Given the description of an element on the screen output the (x, y) to click on. 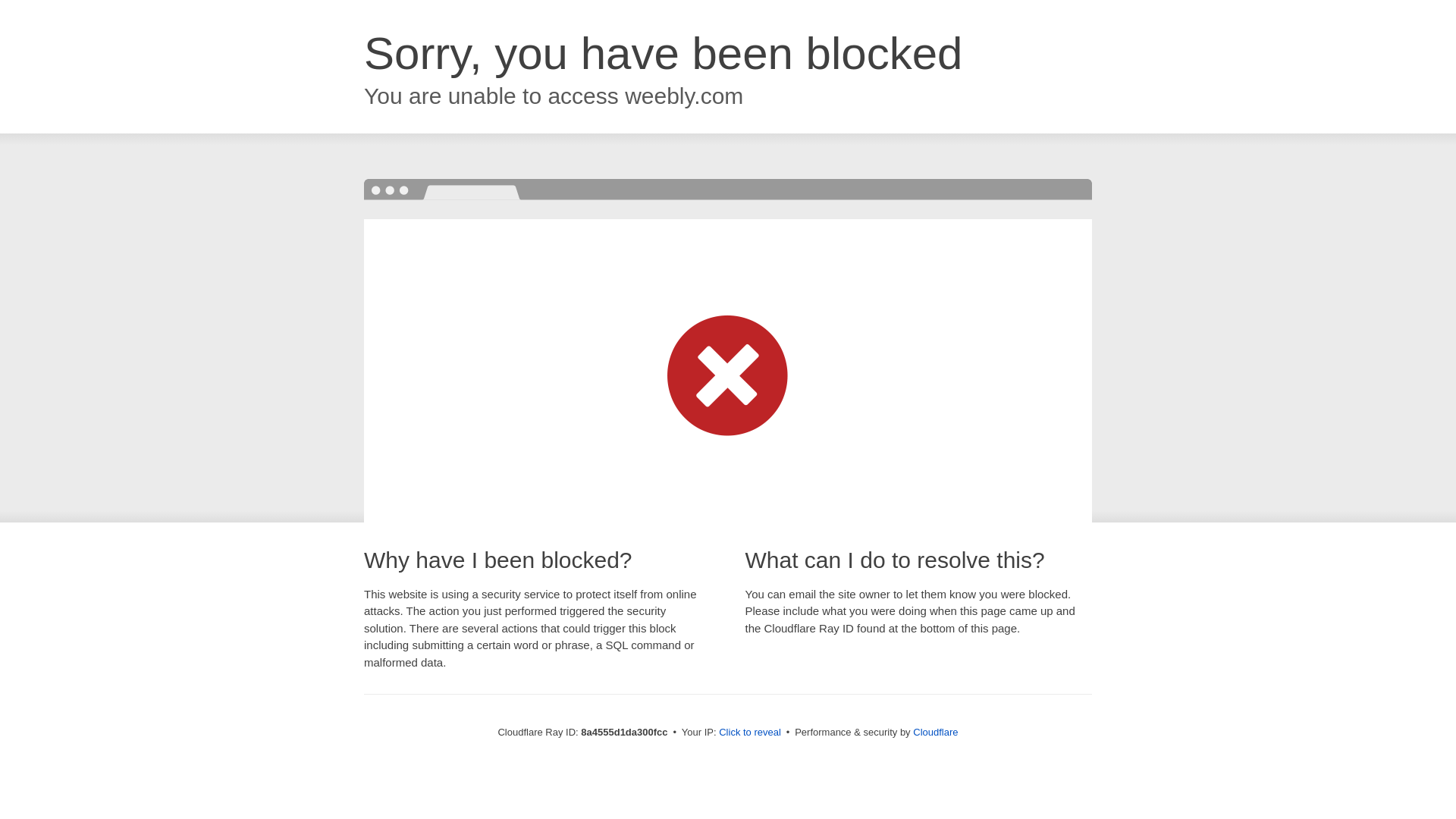
Click to reveal (749, 732)
Cloudflare (935, 731)
